Given the description of an element on the screen output the (x, y) to click on. 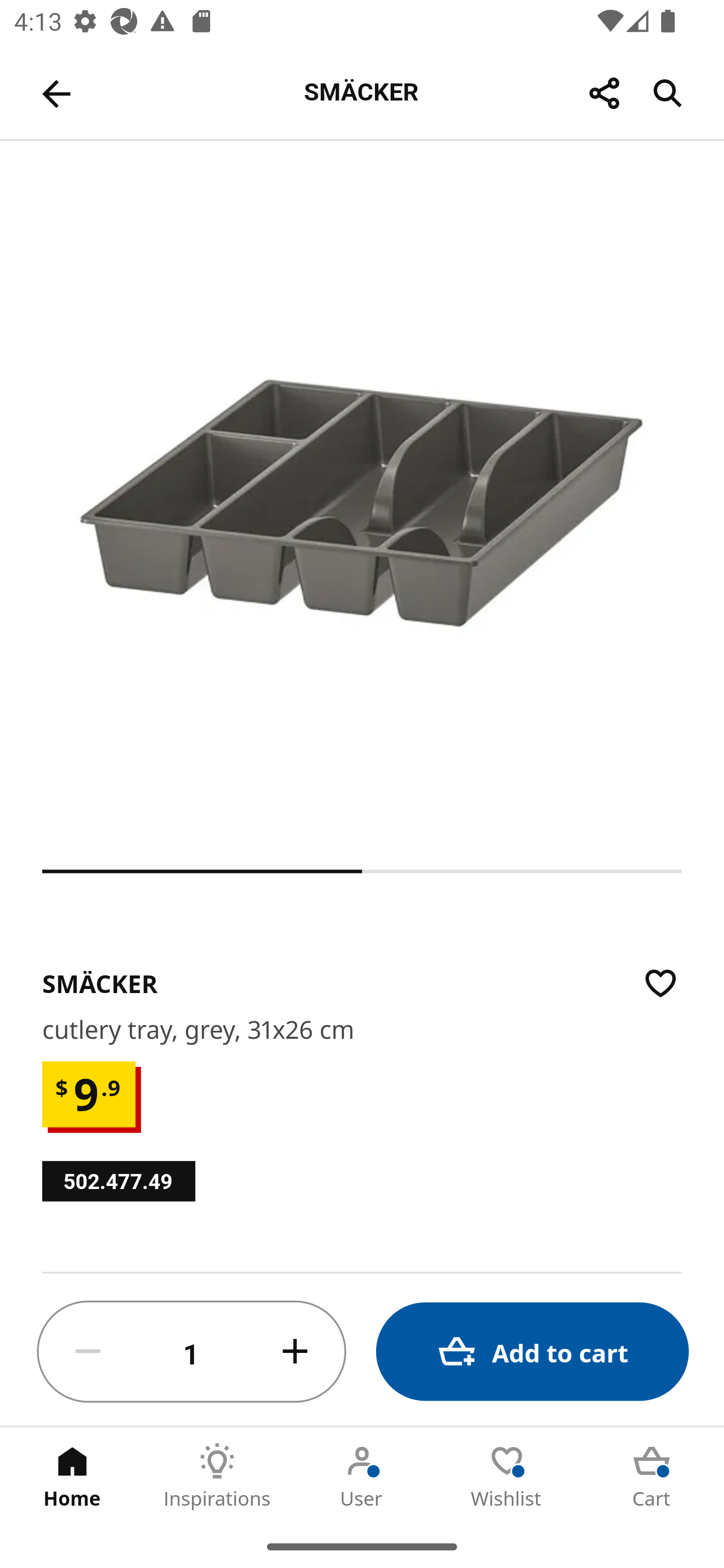
Add to cart (531, 1352)
1 (191, 1352)
Home
Tab 1 of 5 (72, 1476)
Inspirations
Tab 2 of 5 (216, 1476)
User
Tab 3 of 5 (361, 1476)
Wishlist
Tab 4 of 5 (506, 1476)
Cart
Tab 5 of 5 (651, 1476)
